Given the description of an element on the screen output the (x, y) to click on. 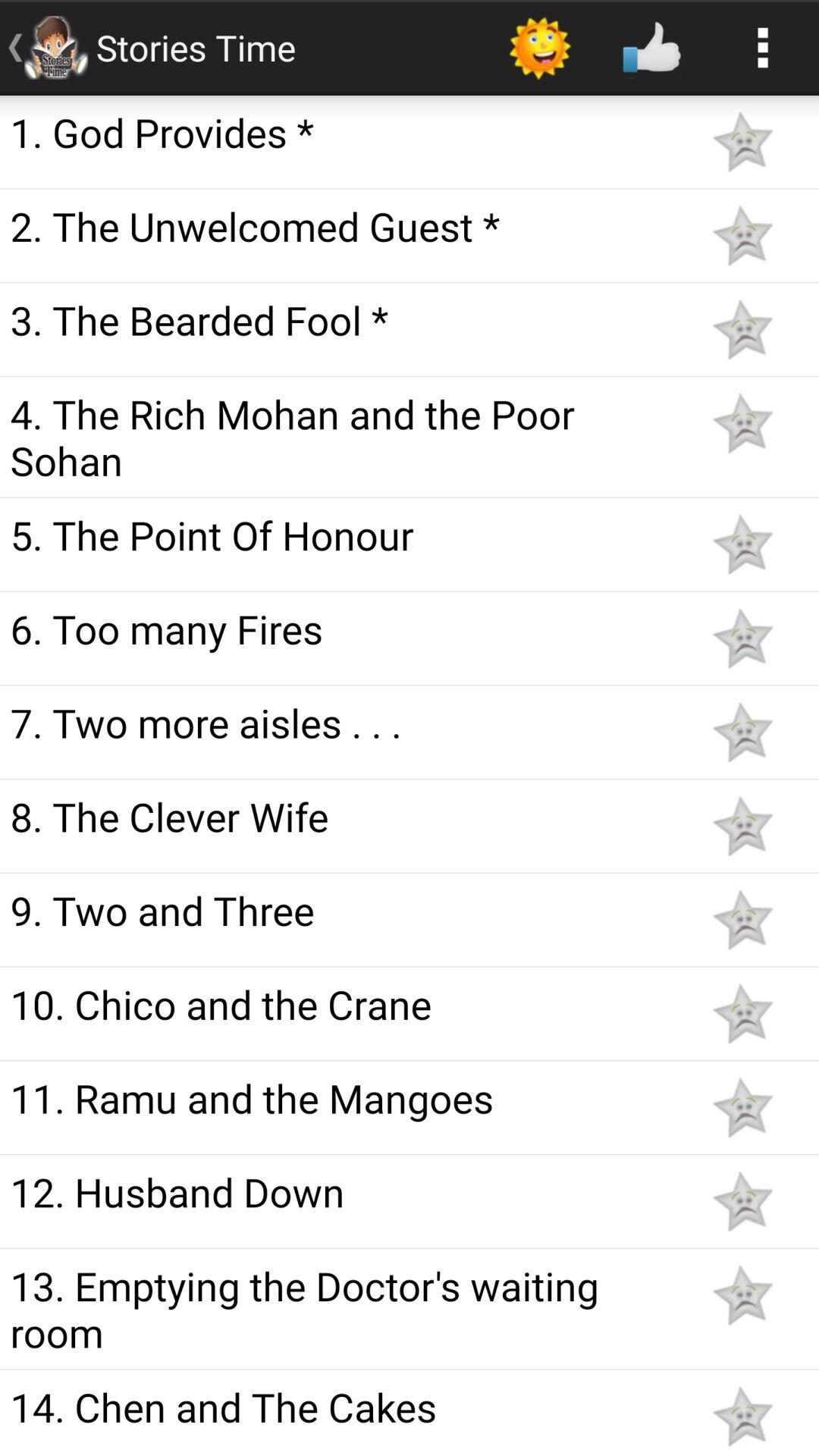
stare favorite (742, 235)
